Given the description of an element on the screen output the (x, y) to click on. 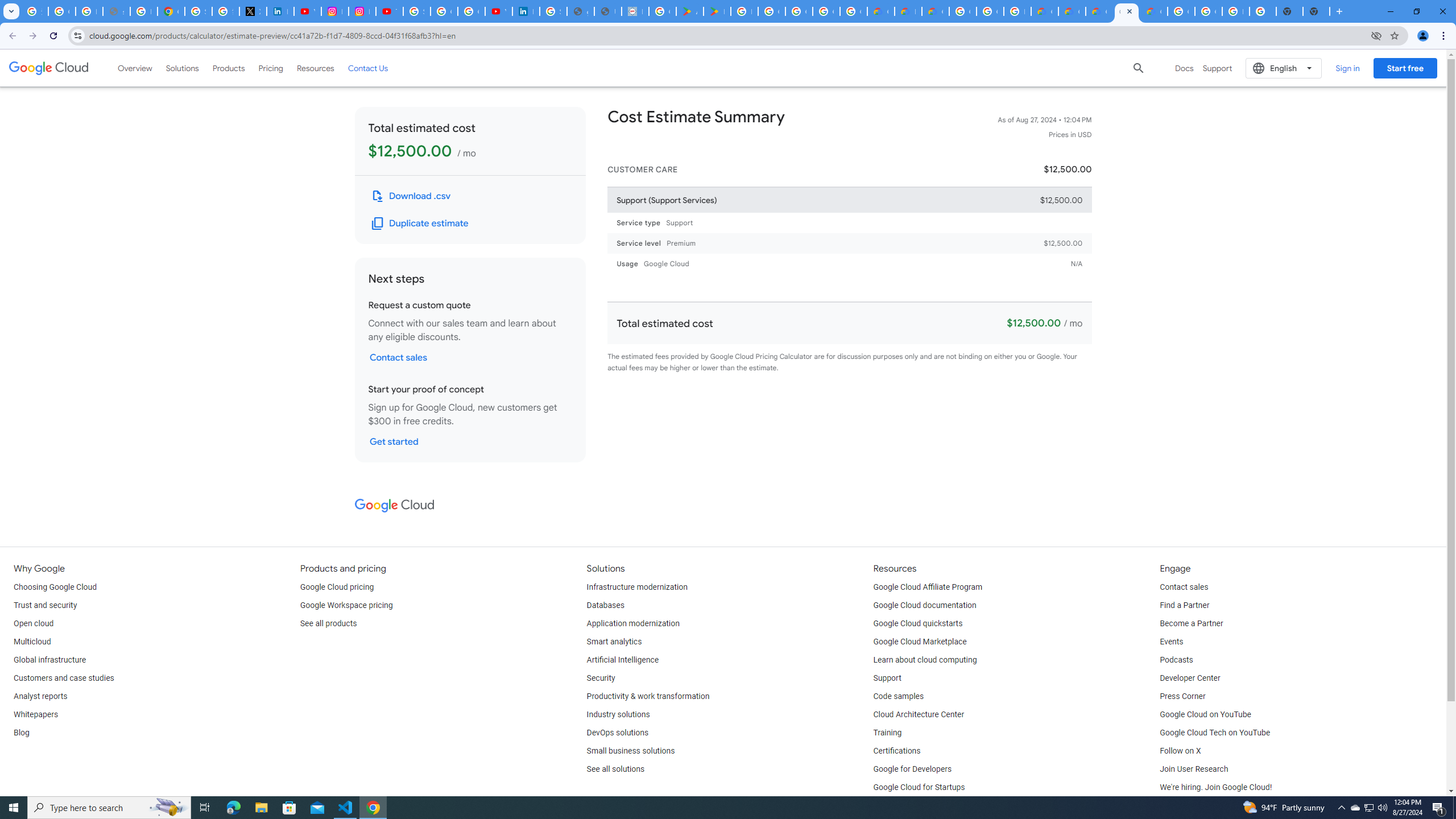
Download .csv file (412, 196)
Gemini for Business and Developers | Google Cloud (935, 11)
Find a Partner (1183, 605)
Google Cloud Platform (962, 11)
Google Cloud Platform (1180, 11)
See all products (327, 624)
Google Workspace pricing (346, 605)
User Details (607, 11)
